Given the description of an element on the screen output the (x, y) to click on. 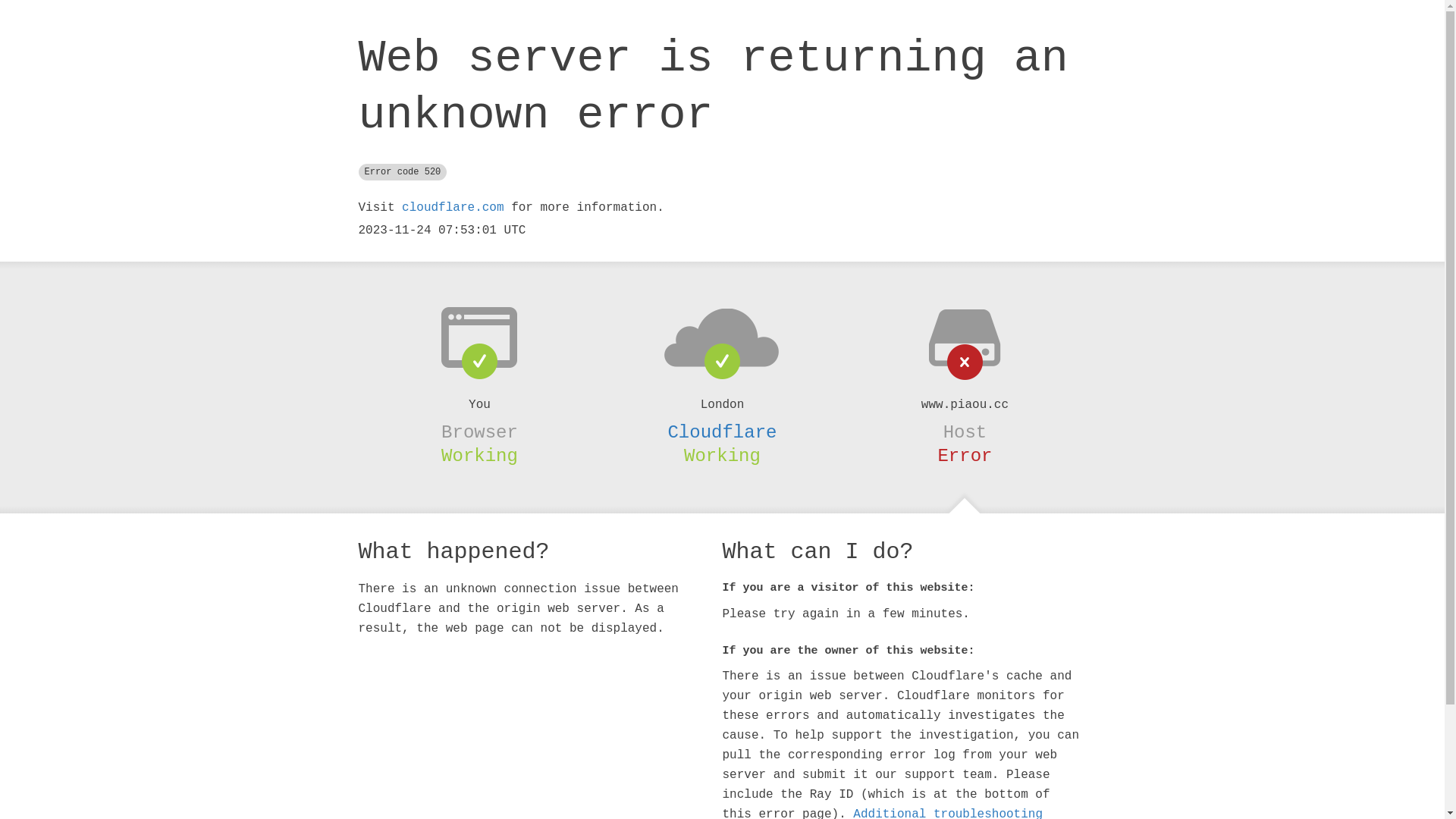
Cloudflare Element type: text (721, 432)
cloudflare.com Element type: text (452, 207)
